Given the description of an element on the screen output the (x, y) to click on. 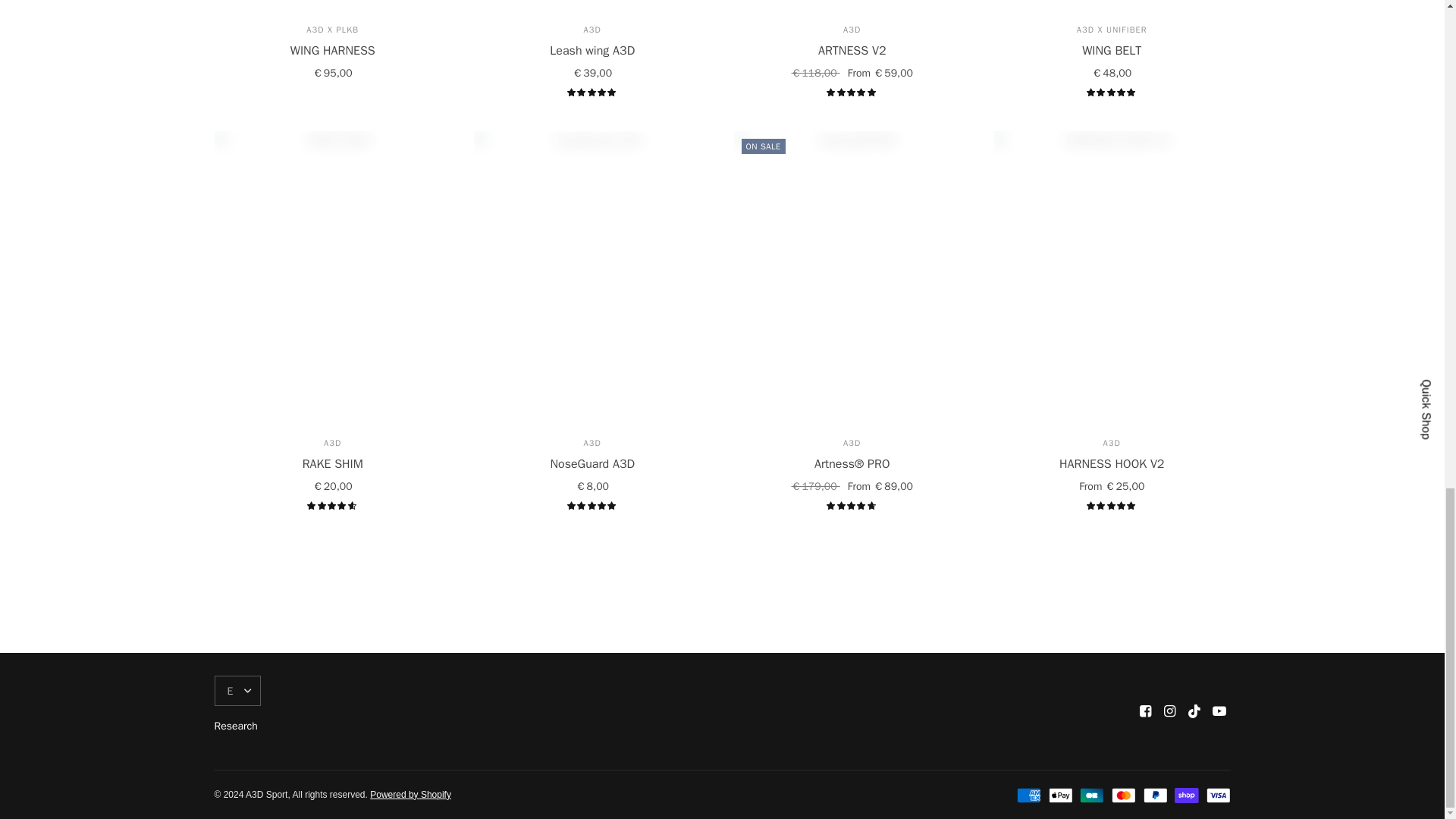
Shop Pay (1186, 795)
Mastercard (1123, 795)
Cartes Bancaires (1091, 795)
American Express (1028, 795)
Visa (1218, 795)
Apple Pay (1060, 795)
PayPal (1154, 795)
